Given the description of an element on the screen output the (x, y) to click on. 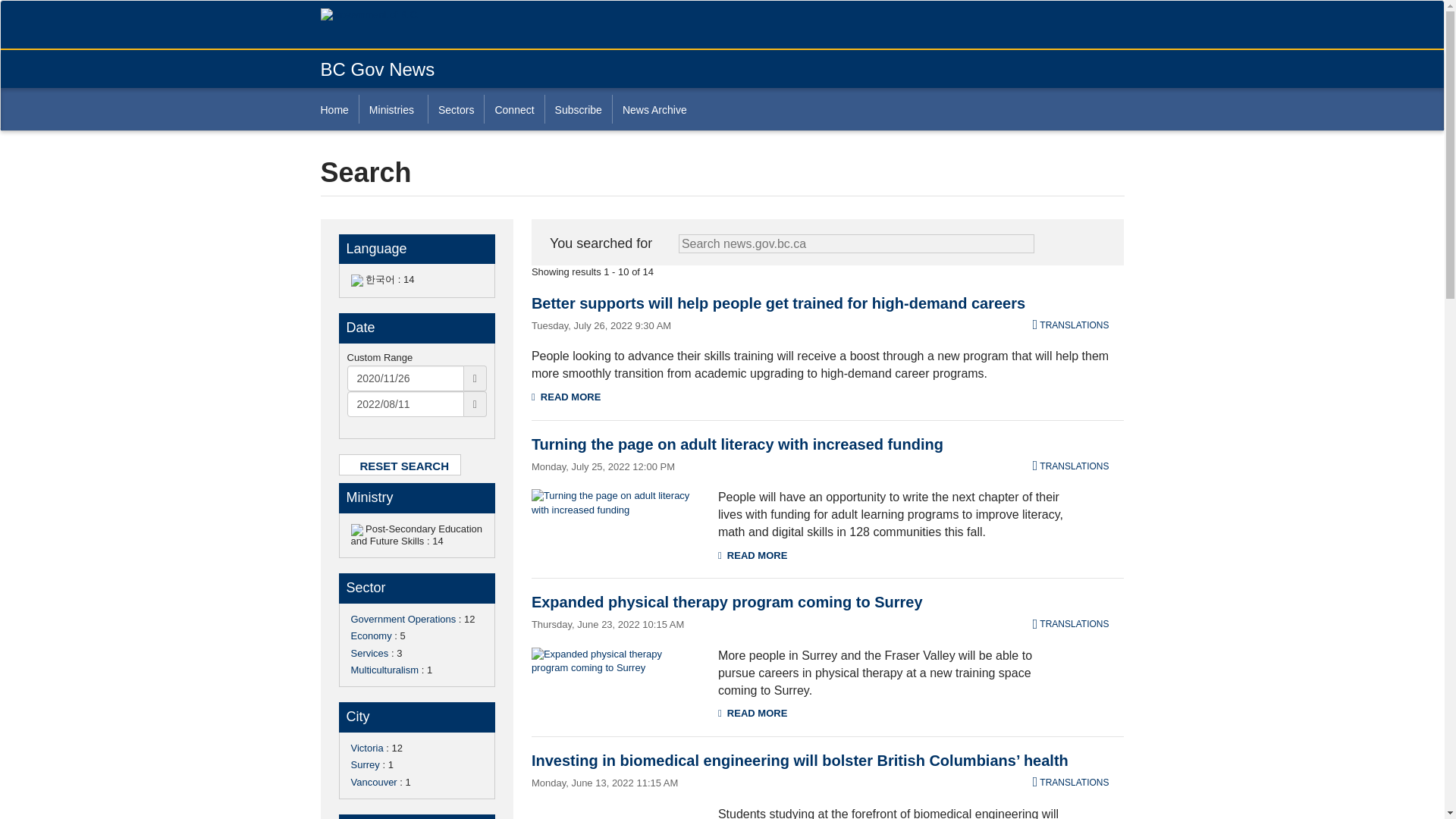
Home (339, 109)
Government of B.C. (384, 15)
Subscribe (577, 109)
Ministries (393, 109)
Sectors (455, 109)
Connect (513, 109)
BC Gov News (376, 68)
News Archive (654, 109)
